Given the description of an element on the screen output the (x, y) to click on. 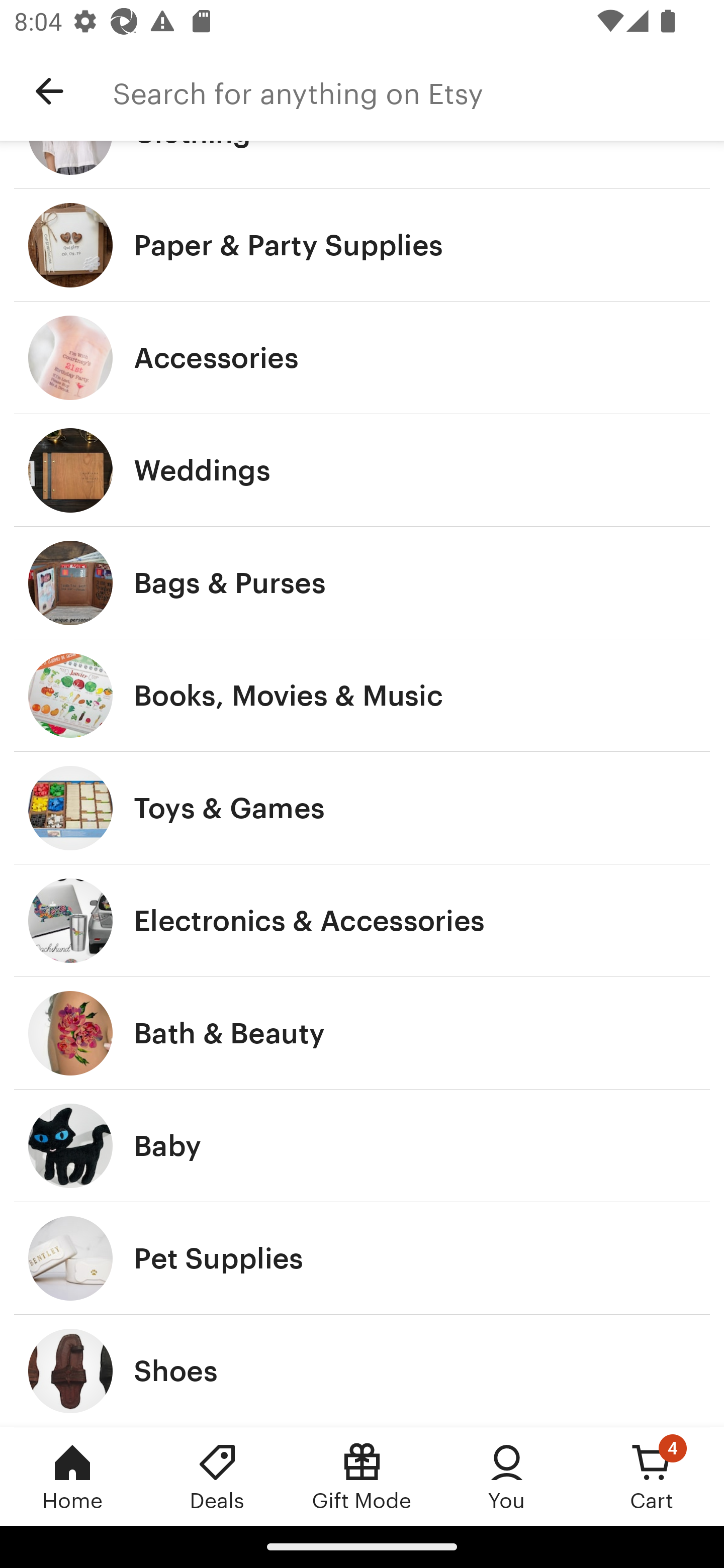
Navigate up (49, 91)
Search for anything on Etsy (418, 91)
Paper & Party Supplies (361, 245)
Accessories (361, 357)
Weddings (361, 469)
Bags & Purses (361, 582)
Books, Movies & Music (361, 695)
Toys & Games (361, 807)
Electronics & Accessories (361, 919)
Bath & Beauty (361, 1032)
Baby (361, 1145)
Pet Supplies (361, 1257)
Shoes (361, 1369)
Deals (216, 1475)
Gift Mode (361, 1475)
You (506, 1475)
Cart, 4 new notifications Cart (651, 1475)
